Given the description of an element on the screen output the (x, y) to click on. 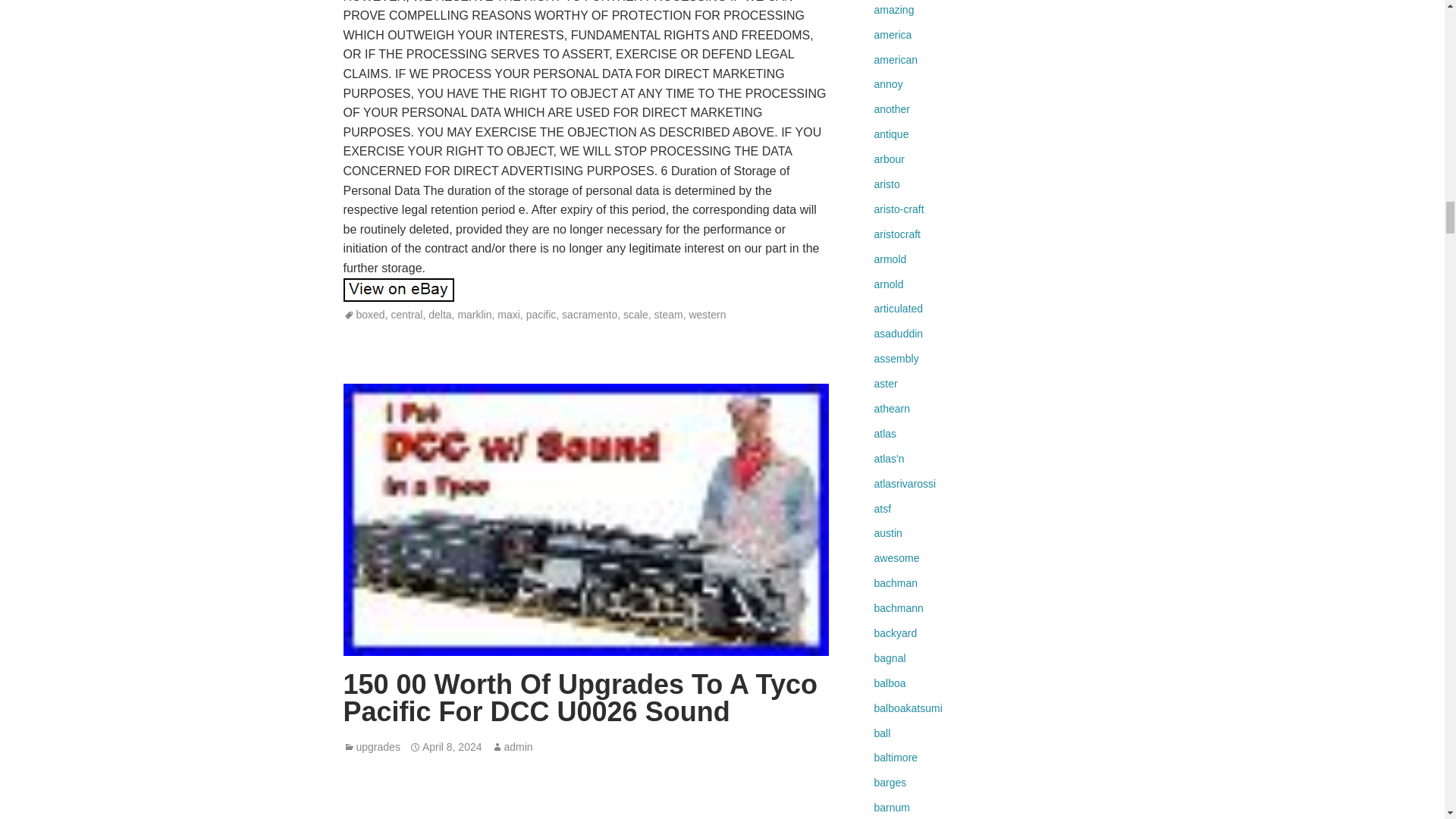
marklin (474, 314)
sacramento (589, 314)
admin (517, 746)
western (706, 314)
maxi (508, 314)
central (406, 314)
scale (635, 314)
pacific (540, 314)
steam (667, 314)
boxed (370, 314)
April 8, 2024 (451, 746)
delta (439, 314)
upgrades (378, 746)
